Given the description of an element on the screen output the (x, y) to click on. 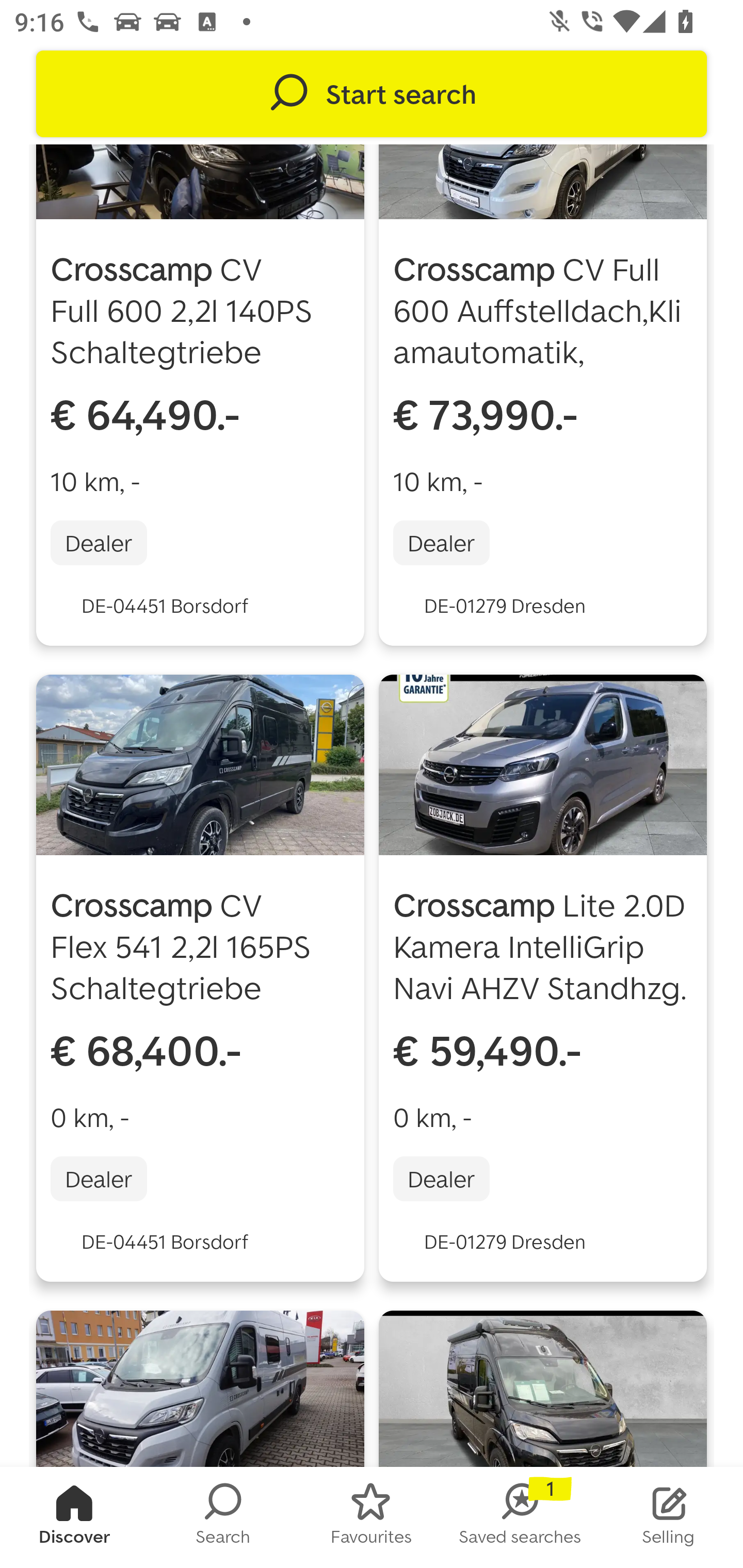
Start search (371, 93)
HOMESCREEN Discover (74, 1517)
SEARCH Search (222, 1517)
FAVORITES Favourites (371, 1517)
SAVED_SEARCHES Saved searches 1 (519, 1517)
STOCK_LIST Selling (668, 1517)
